Given the description of an element on the screen output the (x, y) to click on. 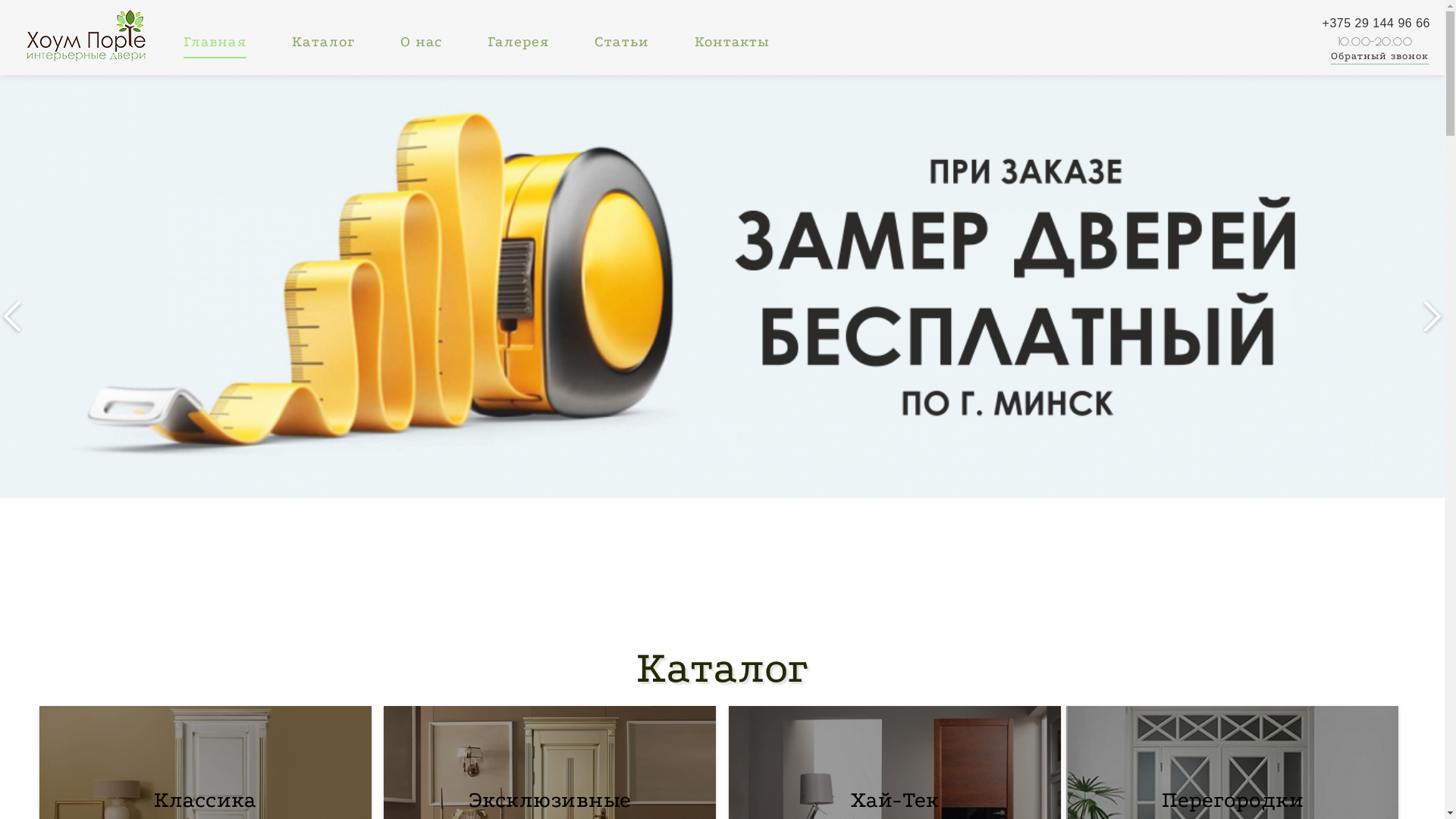
Prev Element type: text (12, 316)
Next Element type: text (1432, 316)
